Given the description of an element on the screen output the (x, y) to click on. 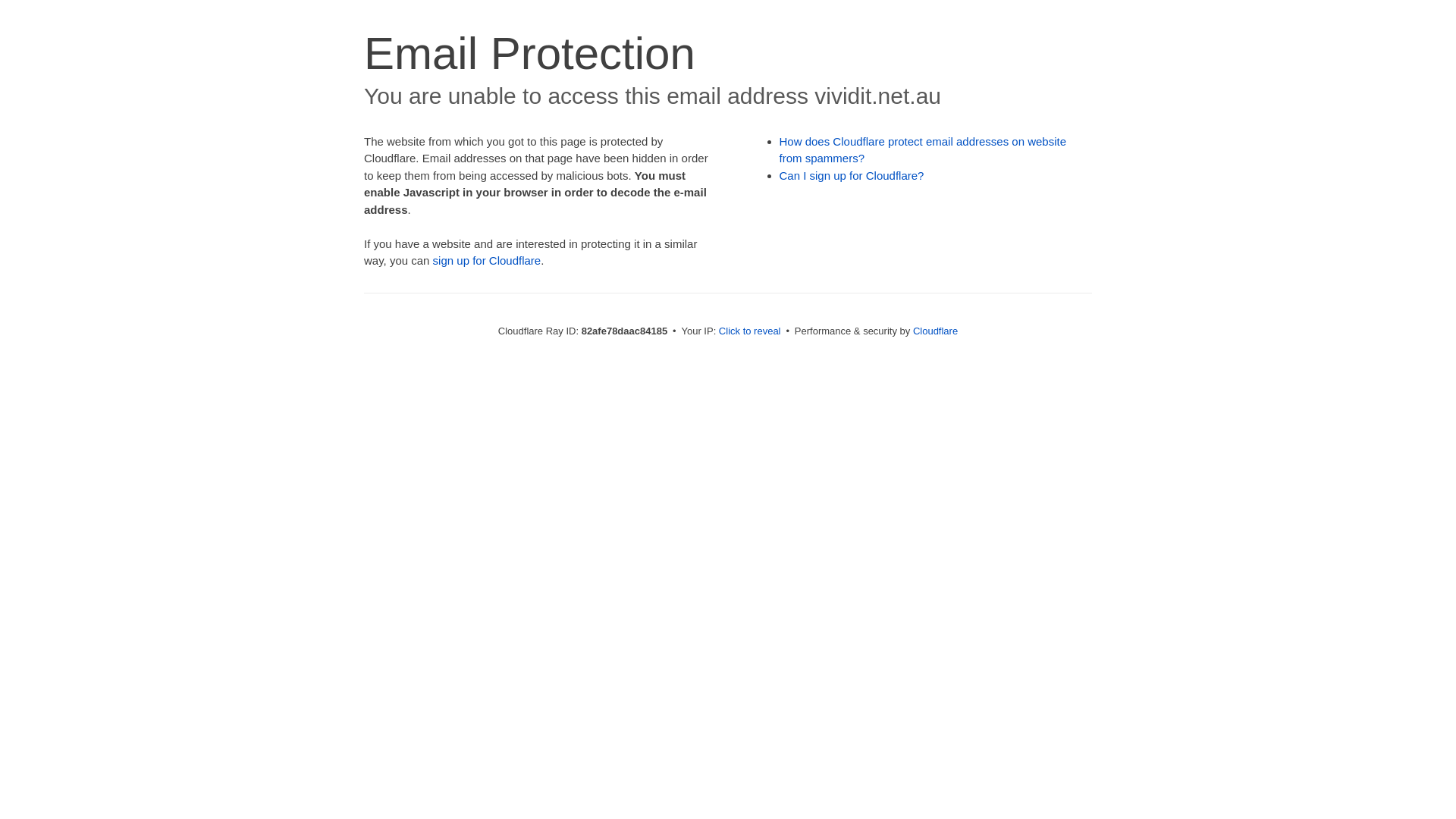
Click to reveal Element type: text (749, 330)
Can I sign up for Cloudflare? Element type: text (851, 175)
sign up for Cloudflare Element type: text (487, 260)
Cloudflare Element type: text (935, 330)
